Given the description of an element on the screen output the (x, y) to click on. 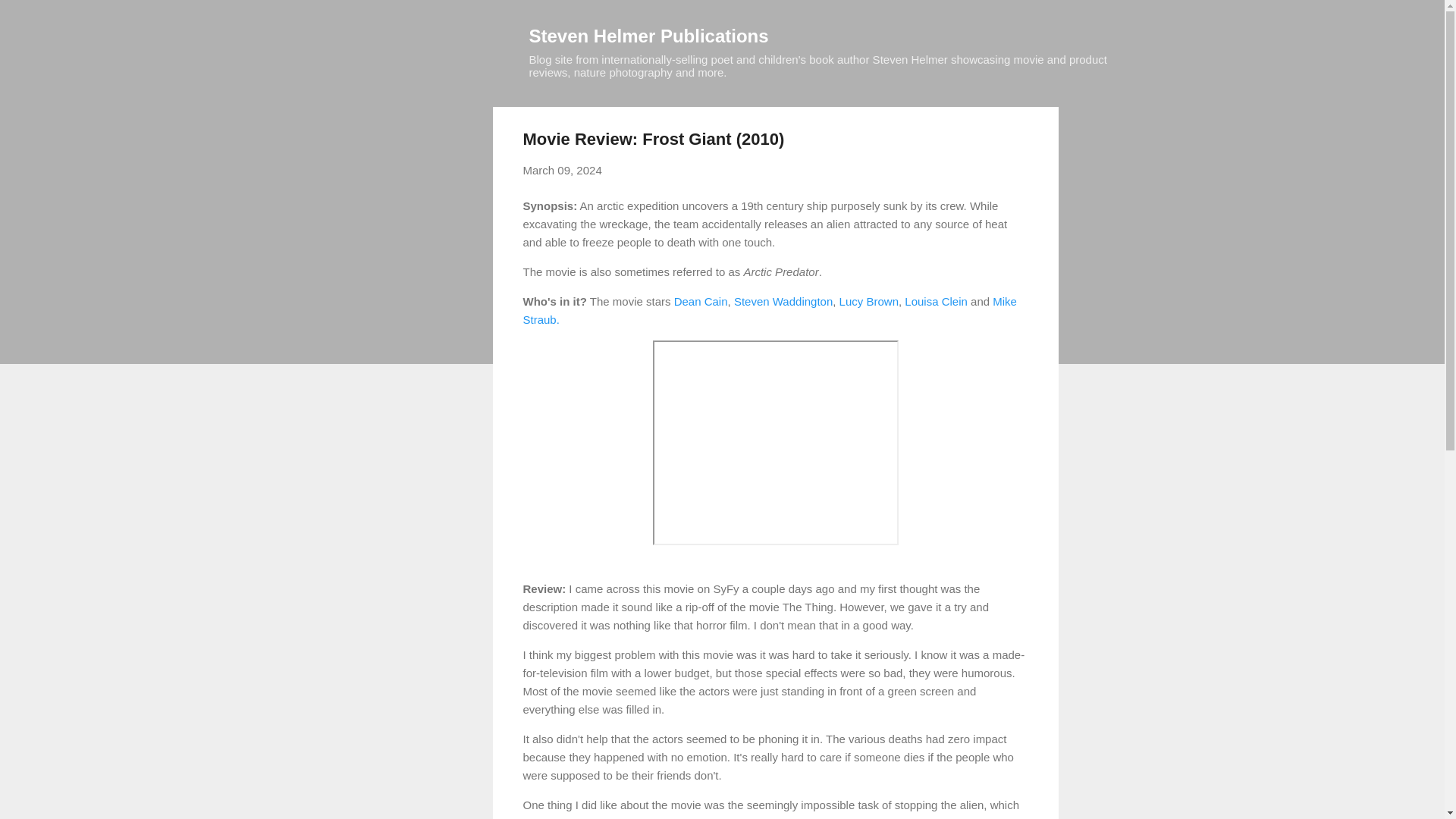
permanent link (562, 169)
Steven Helmer Publications (648, 35)
Louisa Clein (936, 300)
Lucy Brown (869, 300)
Steven Waddington (782, 300)
March 09, 2024 (562, 169)
Search (29, 18)
Dean Cain (701, 300)
Mike Straub. (769, 309)
